Given the description of an element on the screen output the (x, y) to click on. 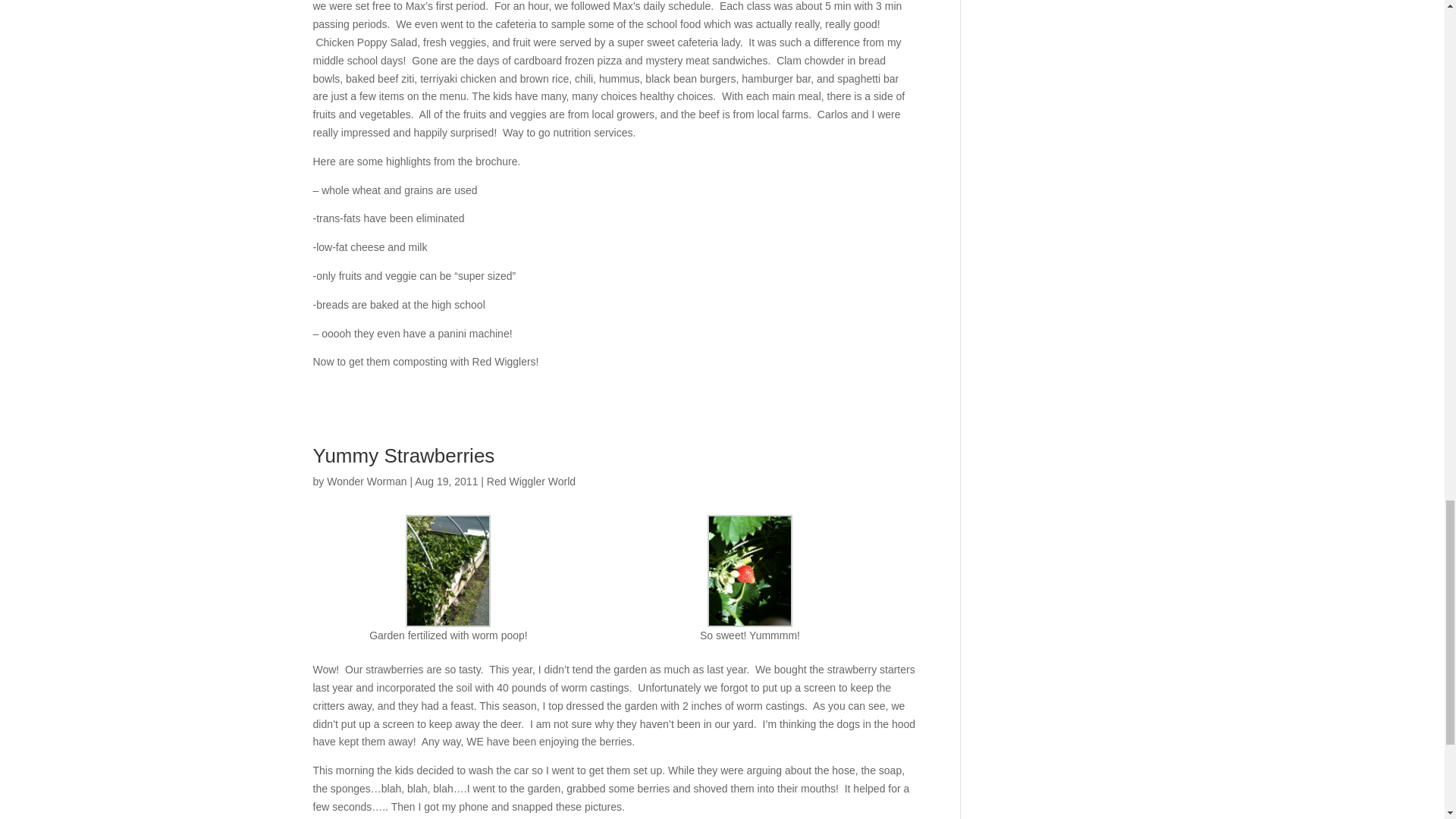
Posts by Wonder Worman (366, 481)
